Given the description of an element on the screen output the (x, y) to click on. 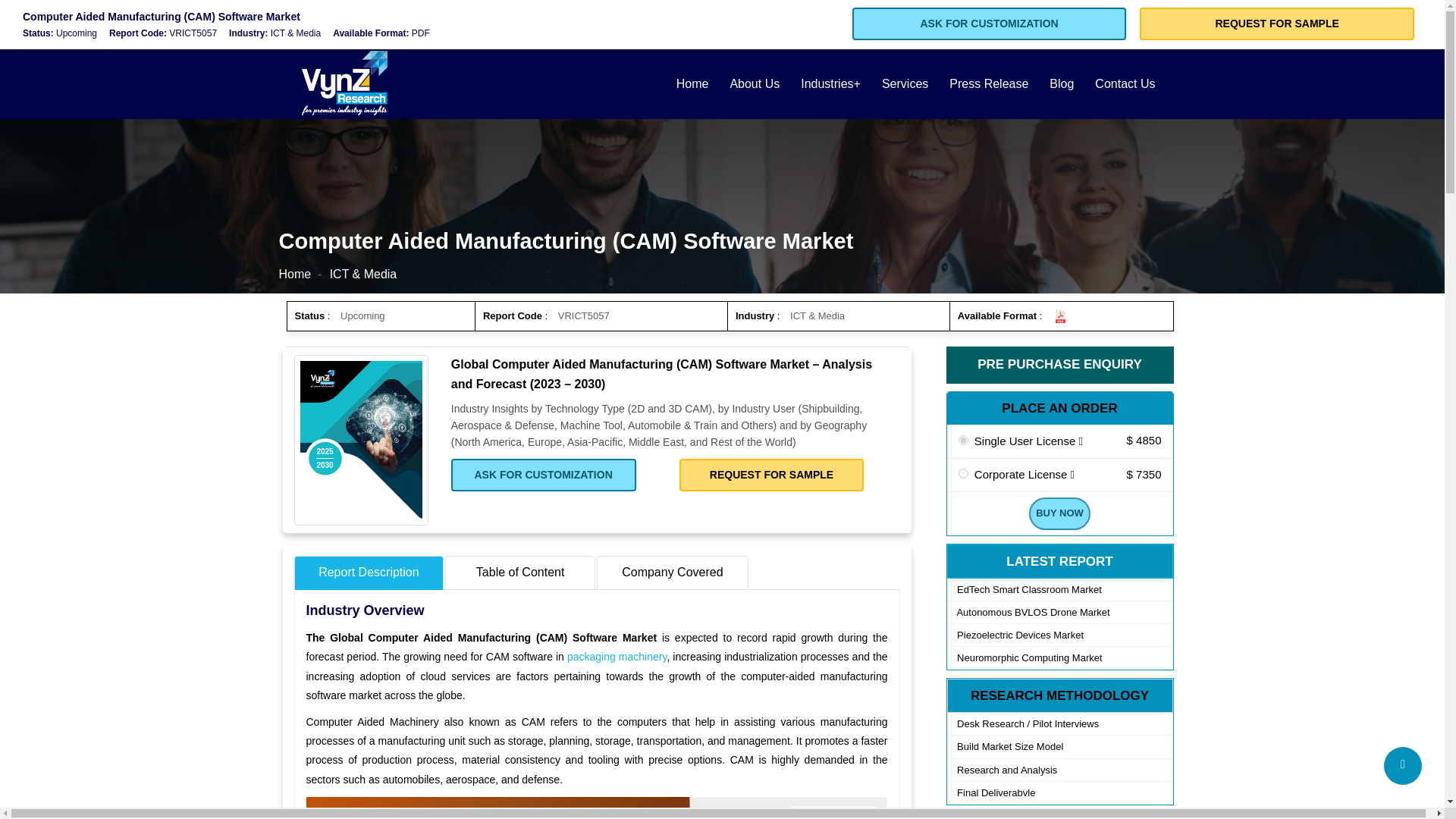
REQUEST FOR SAMPLE (771, 474)
get a quote (1061, 21)
About Us (754, 84)
Services (904, 84)
ASK FOR CUSTOMIZATION (543, 474)
Scroll Top (1403, 765)
GET A QUOTE (1061, 21)
Home (295, 273)
Contact Us (1125, 84)
Buy Now (1059, 513)
